Given the description of an element on the screen output the (x, y) to click on. 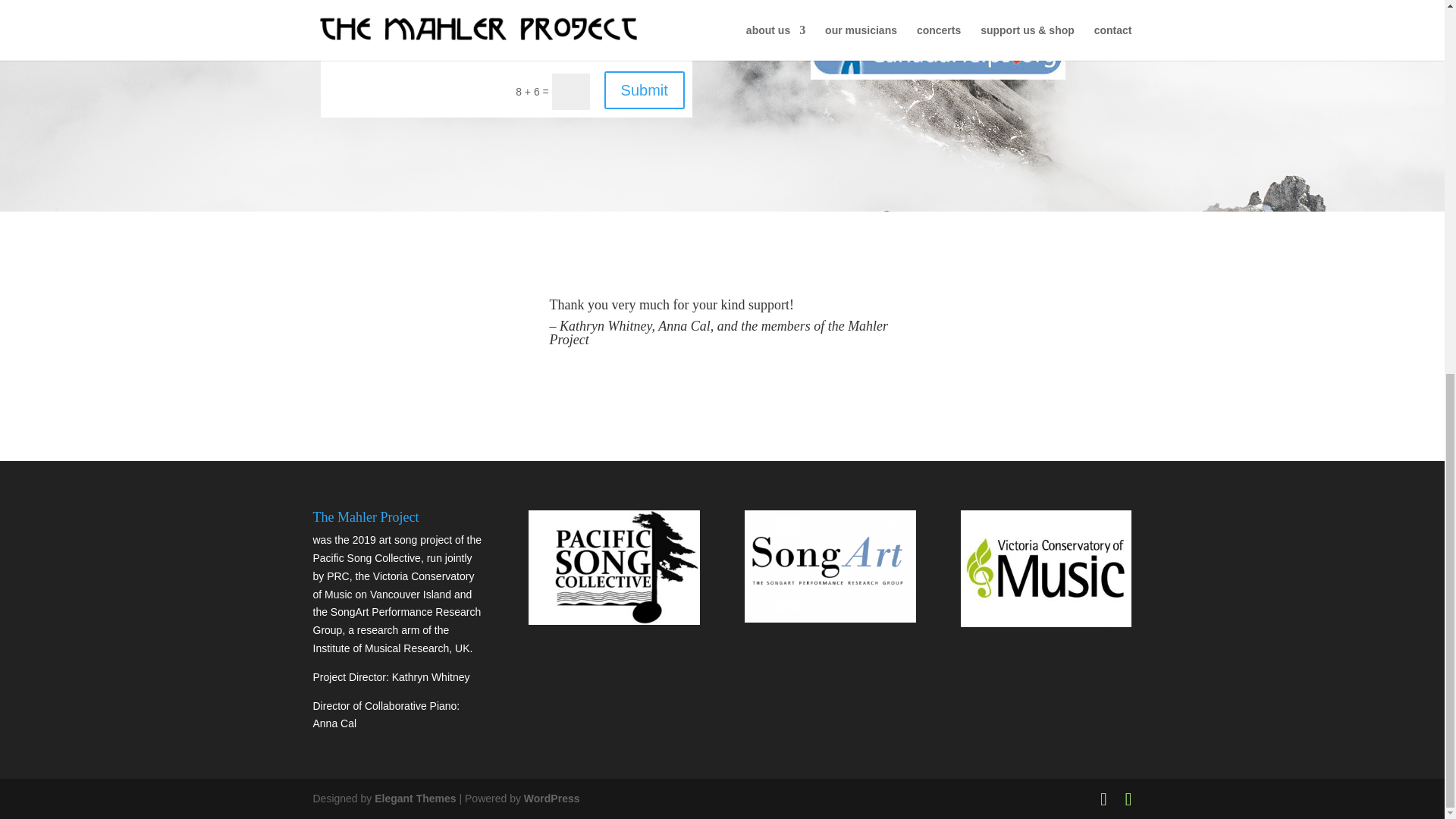
WordPress (551, 798)
Submit (644, 89)
Elegant Themes (414, 798)
Premium WordPress Themes (414, 798)
